Given the description of an element on the screen output the (x, y) to click on. 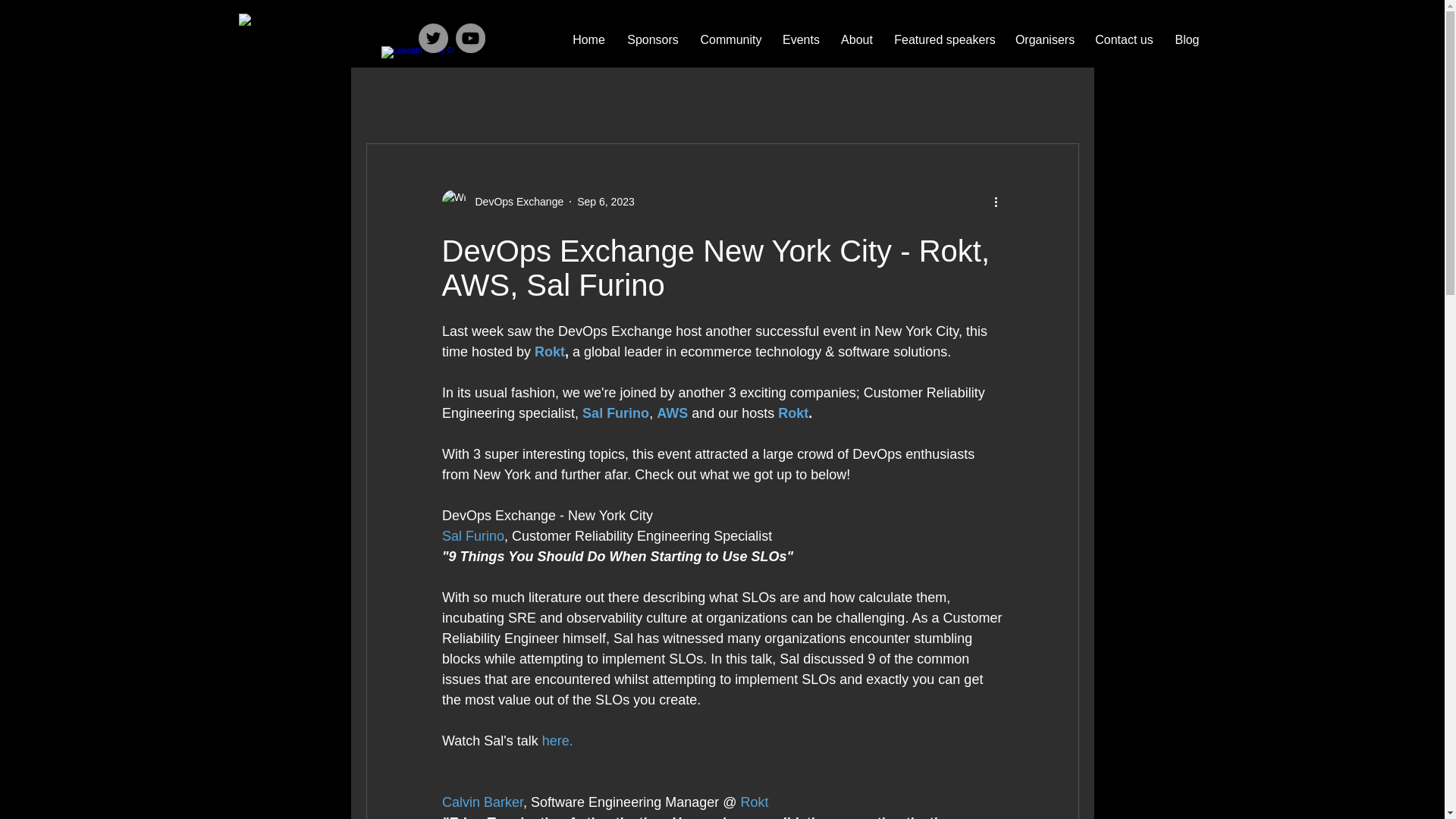
DevOps Exchange (514, 201)
Featured speakers (943, 39)
About (857, 39)
Sep 6, 2023 (605, 201)
Organisers (1045, 39)
Home (588, 39)
Sal Furino (615, 412)
Rokt (549, 351)
Rokt (753, 801)
Calvin Barker (481, 801)
Rokt (792, 412)
here. (556, 740)
Sal Furino (472, 535)
Community (730, 39)
AWS (671, 412)
